Given the description of an element on the screen output the (x, y) to click on. 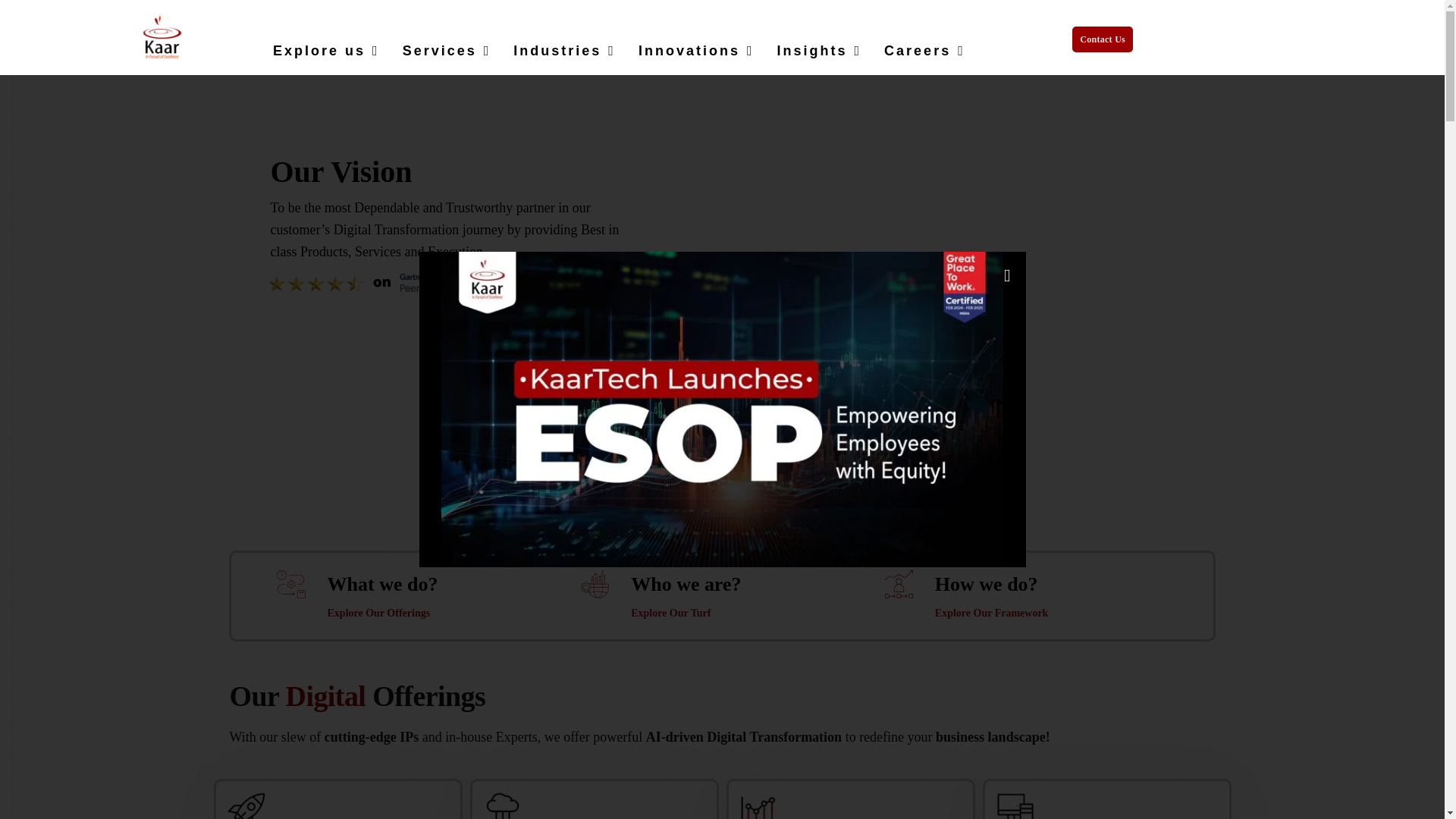
data-engineering (757, 803)
Explore us (326, 50)
Services (447, 50)
sap-transformation (244, 803)
monitor-1-transformed (1013, 803)
cloudfile (501, 803)
Industries (564, 50)
